Given the description of an element on the screen output the (x, y) to click on. 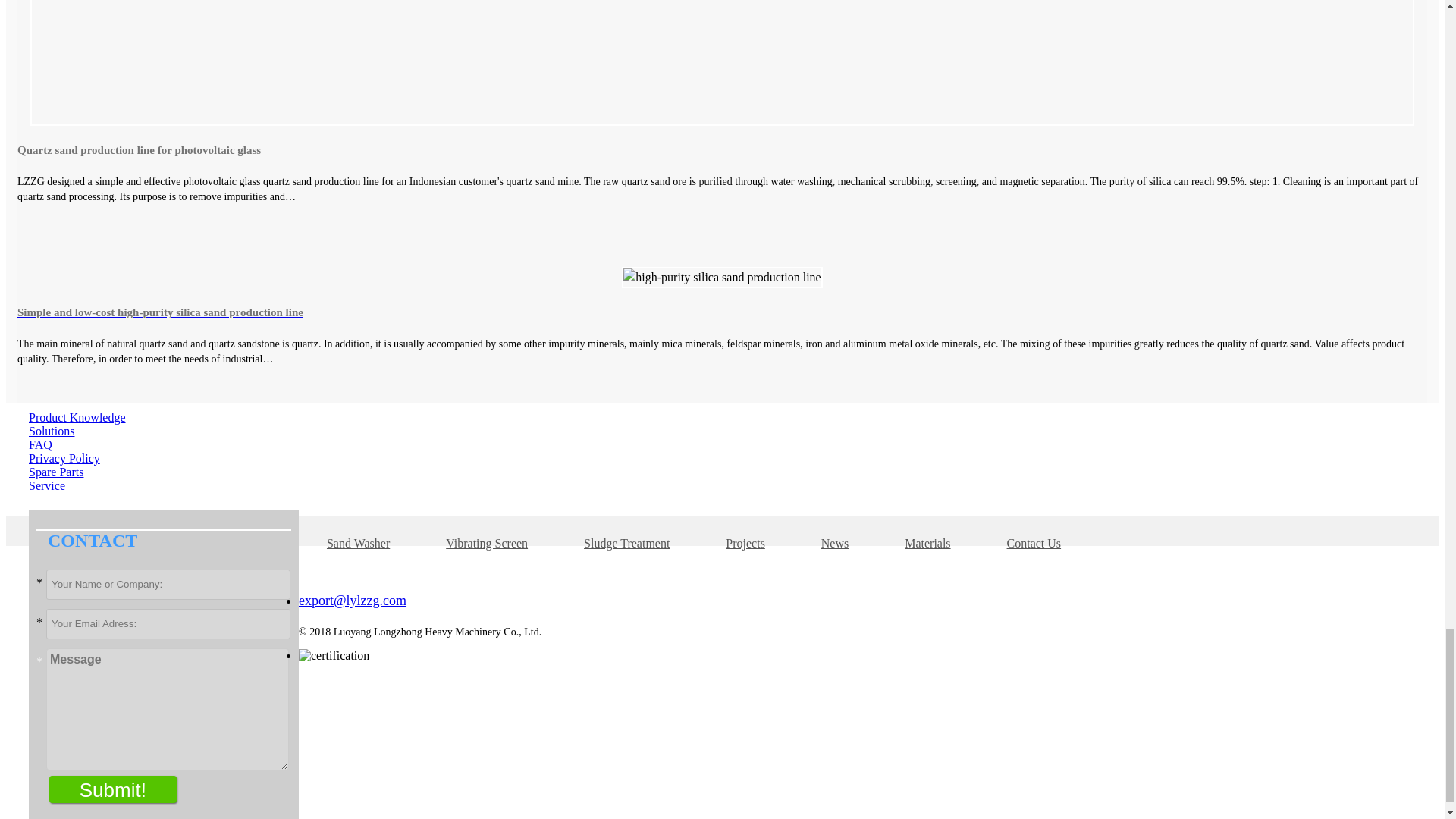
Service (47, 485)
Solutions (51, 431)
FAQ (40, 444)
Simple and low-cost high-purity silica sand production line (721, 312)
Submit! (112, 789)
Spare Parts (55, 472)
Product Knowledge (77, 417)
Submit! (112, 789)
Privacy Policy (64, 458)
Quartz sand production line for photovoltaic glass (721, 149)
